Given the description of an element on the screen output the (x, y) to click on. 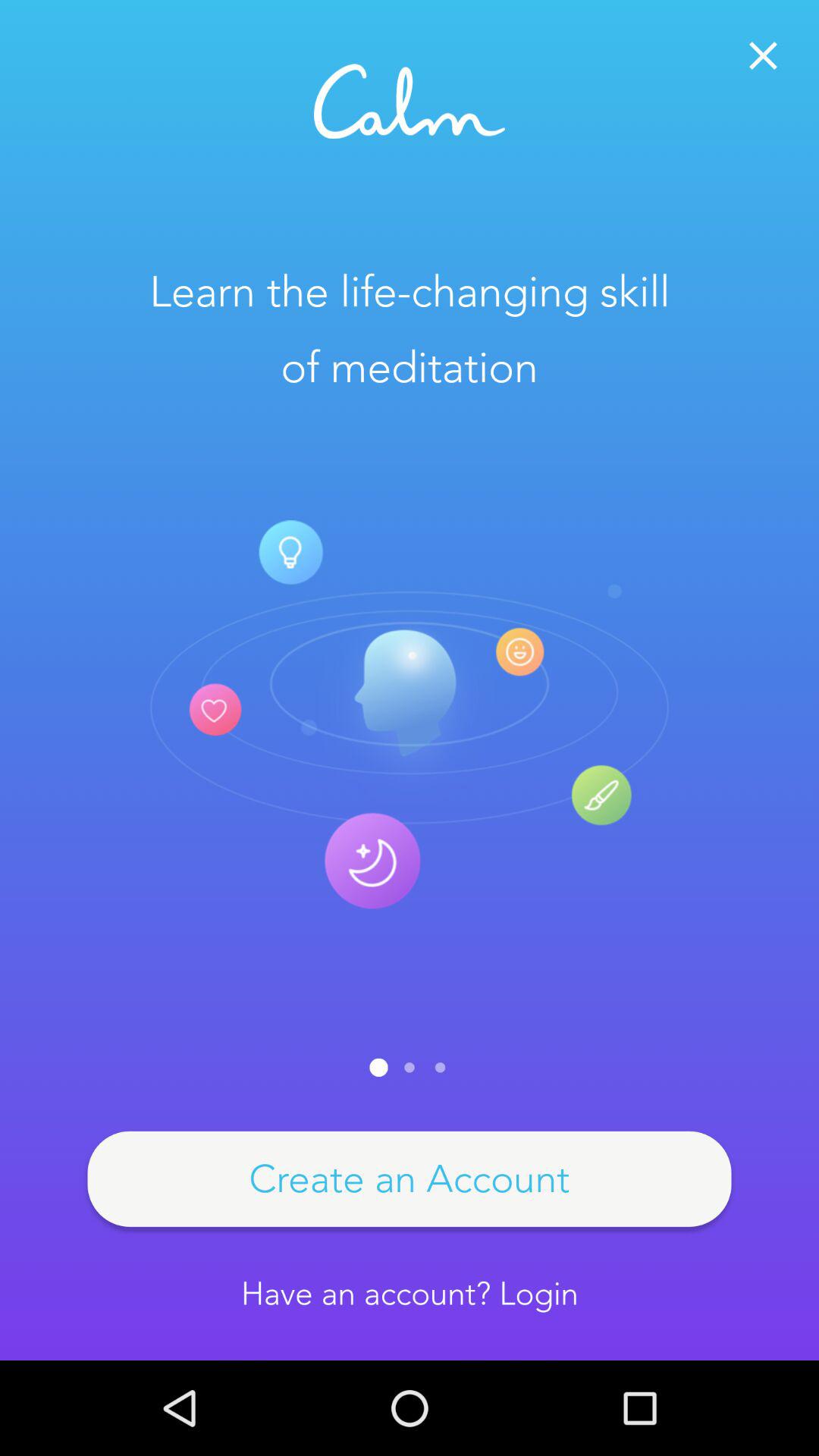
close app (763, 55)
